Given the description of an element on the screen output the (x, y) to click on. 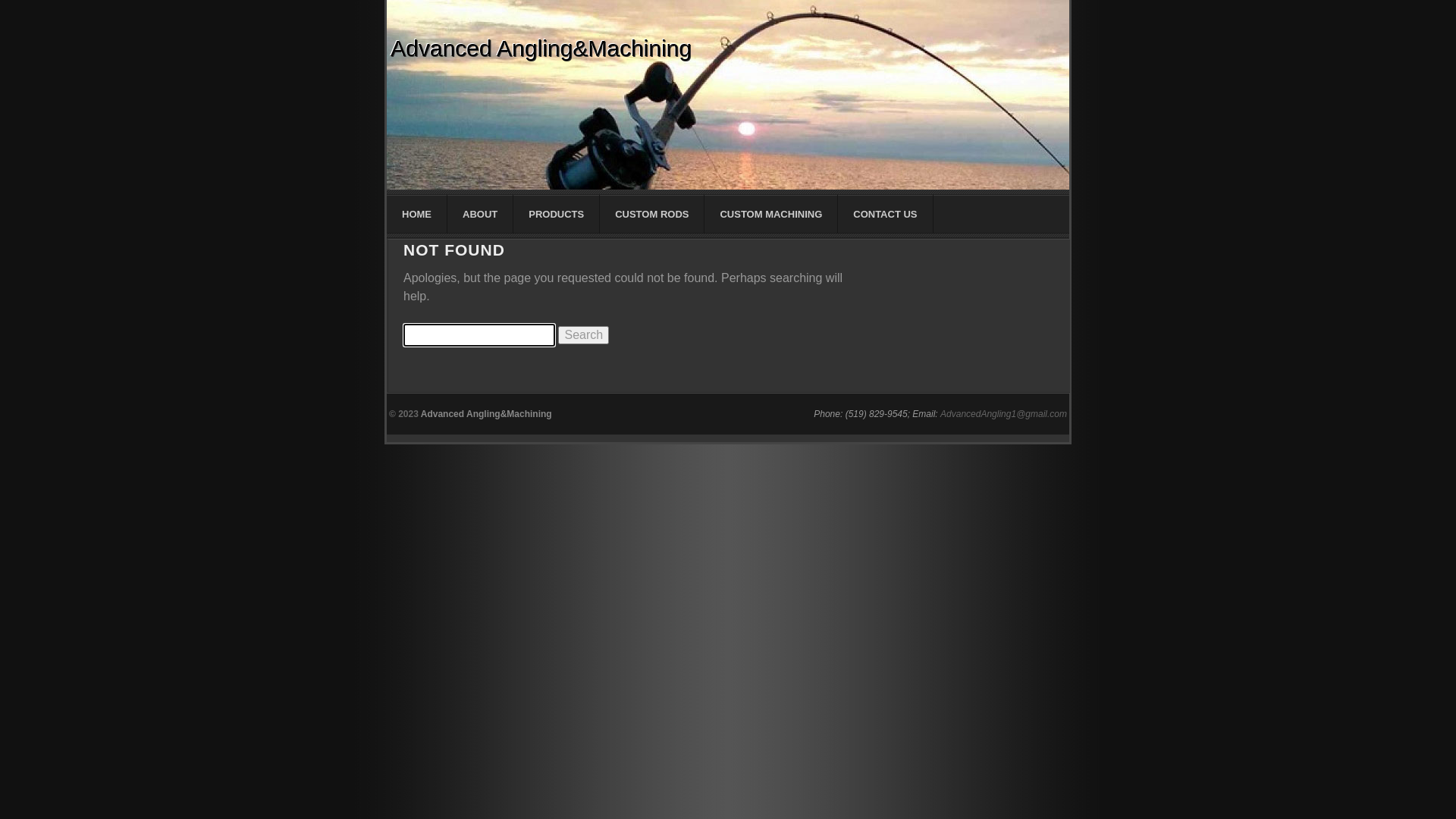
HOME Element type: text (416, 213)
Advanced Angling&Machining Element type: text (486, 413)
CUSTOM MACHINING Element type: text (770, 213)
Search Element type: text (583, 335)
AdvancedAngling1@gmail.com Element type: text (1003, 413)
Advanced Angling&Machining Element type: text (540, 48)
CONTACT US Element type: text (884, 213)
PRODUCTS Element type: text (556, 213)
CUSTOM RODS Element type: text (651, 213)
ABOUT Element type: text (480, 213)
